Given the description of an element on the screen output the (x, y) to click on. 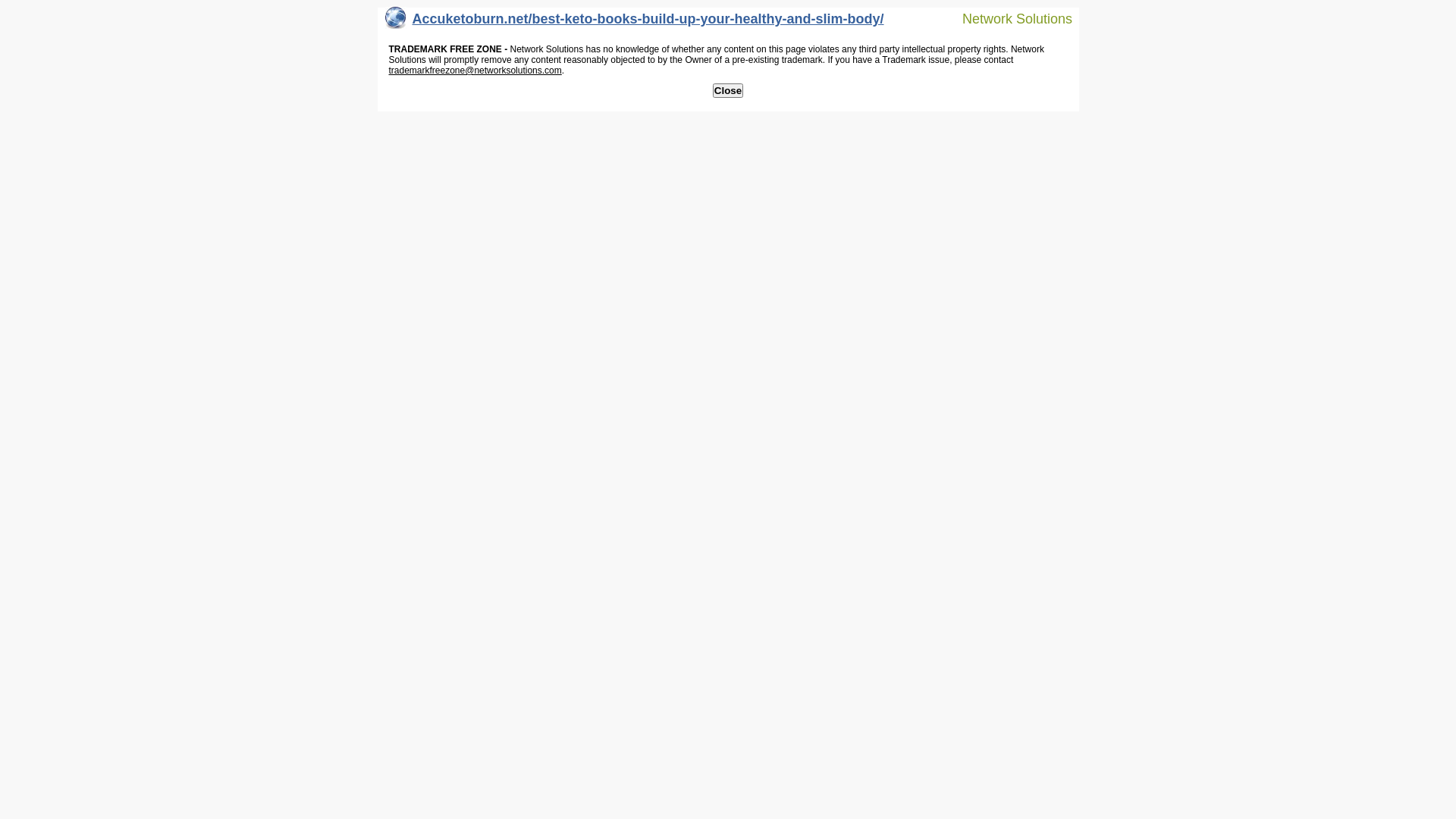
trademarkfreezone@networksolutions.com Element type: text (474, 70)
Close Element type: text (727, 90)
Network Solutions Element type: text (1007, 17)
